Given the description of an element on the screen output the (x, y) to click on. 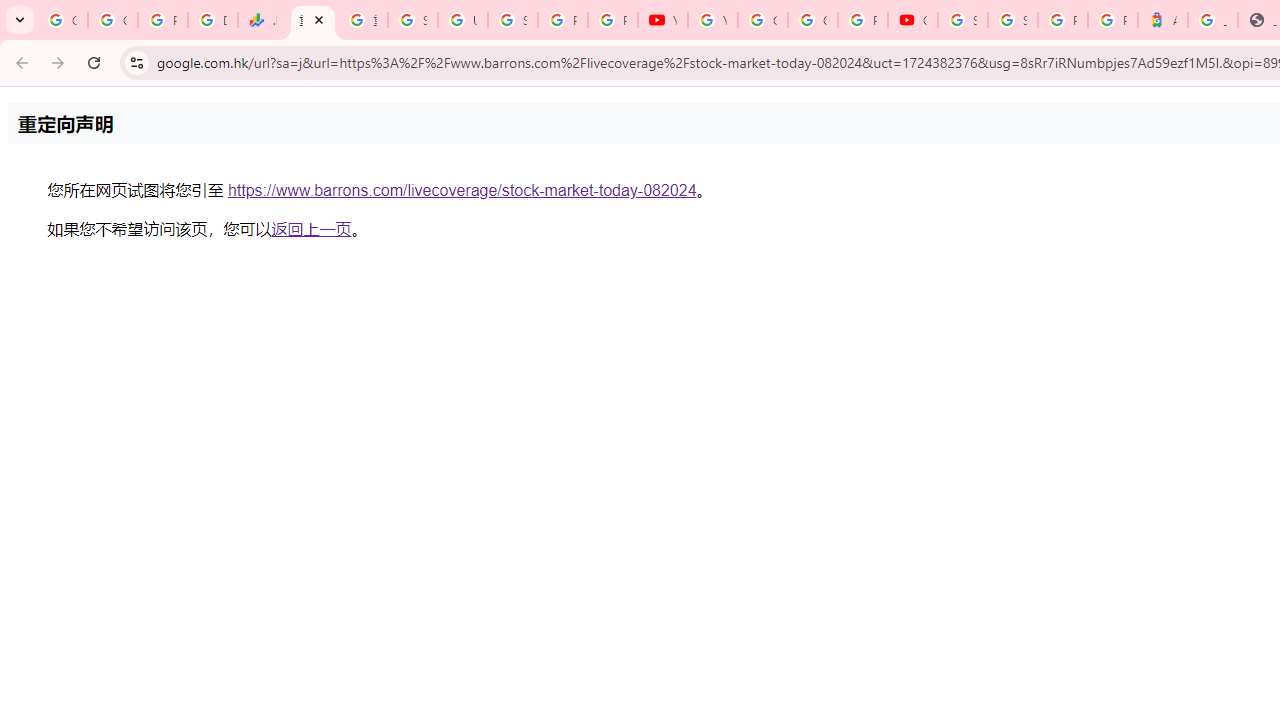
YouTube (712, 20)
Google Workspace Admin Community (62, 20)
Sign in - Google Accounts (1013, 20)
Sign in - Google Accounts (963, 20)
